Given the description of an element on the screen output the (x, y) to click on. 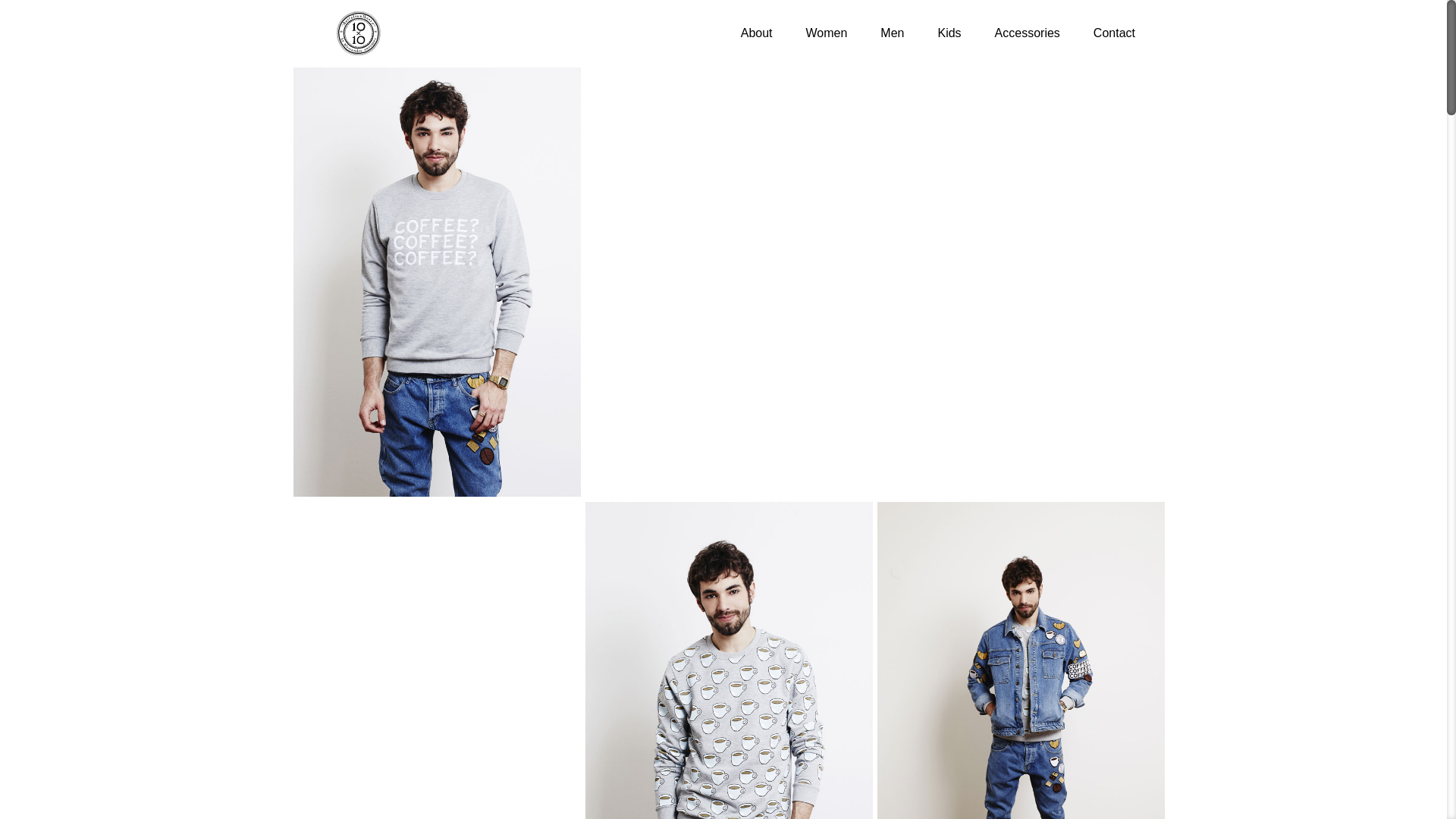
Women Element type: text (826, 32)
About Element type: text (756, 32)
Kids Element type: text (948, 32)
Men Element type: text (891, 32)
Accessories Element type: text (1027, 32)
Home Element type: text (722, 32)
Contact Element type: text (1113, 32)
